Given the description of an element on the screen output the (x, y) to click on. 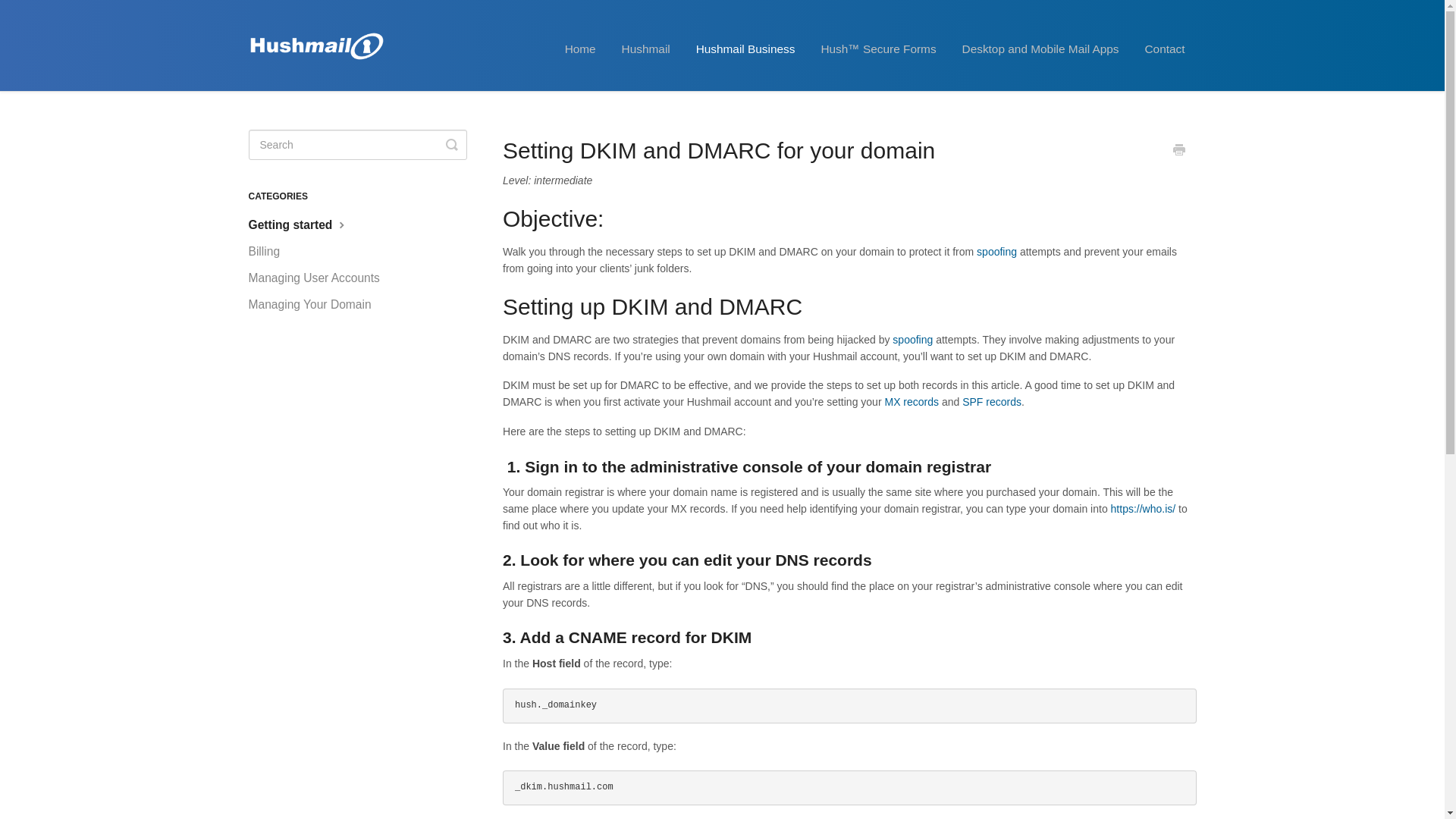
Managing Your Domain (315, 304)
Getting started (304, 224)
Home (580, 48)
Desktop and Mobile Mail Apps (1040, 48)
Managing User Accounts (319, 278)
spoofing (912, 339)
spoofing (996, 251)
SPF records (992, 401)
Hushmail Business (745, 48)
Billing (270, 251)
